Given the description of an element on the screen output the (x, y) to click on. 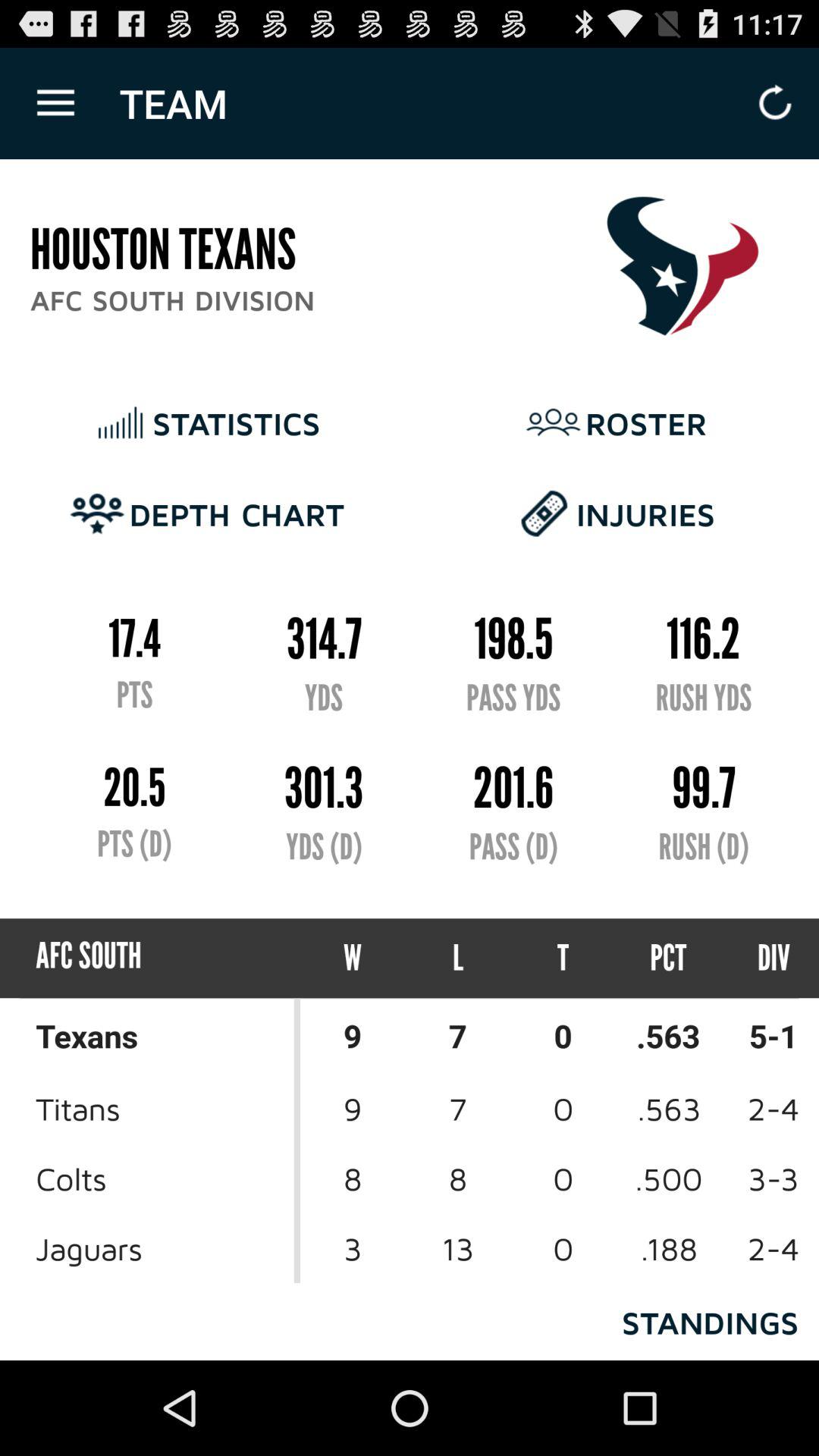
select item above 7 item (562, 958)
